Given the description of an element on the screen output the (x, y) to click on. 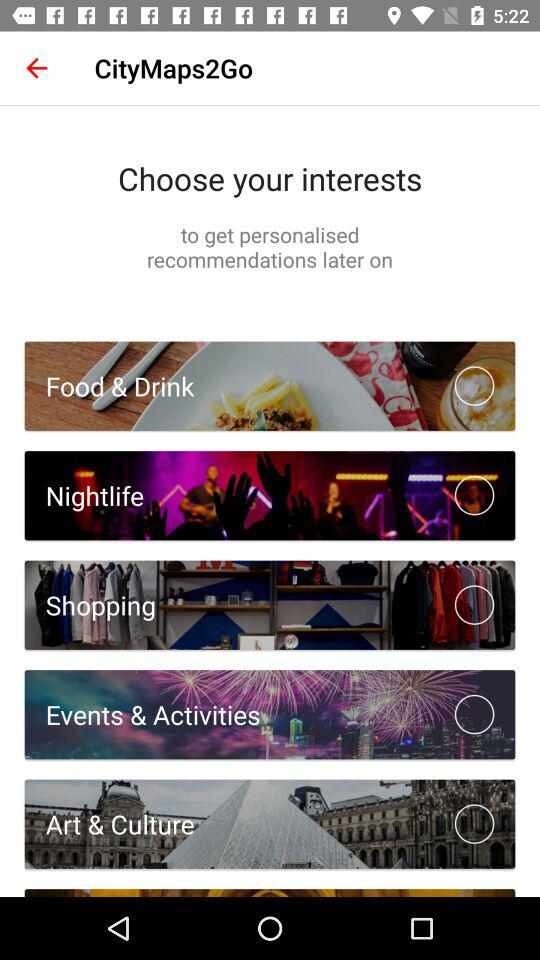
jump until the art & culture (109, 823)
